Given the description of an element on the screen output the (x, y) to click on. 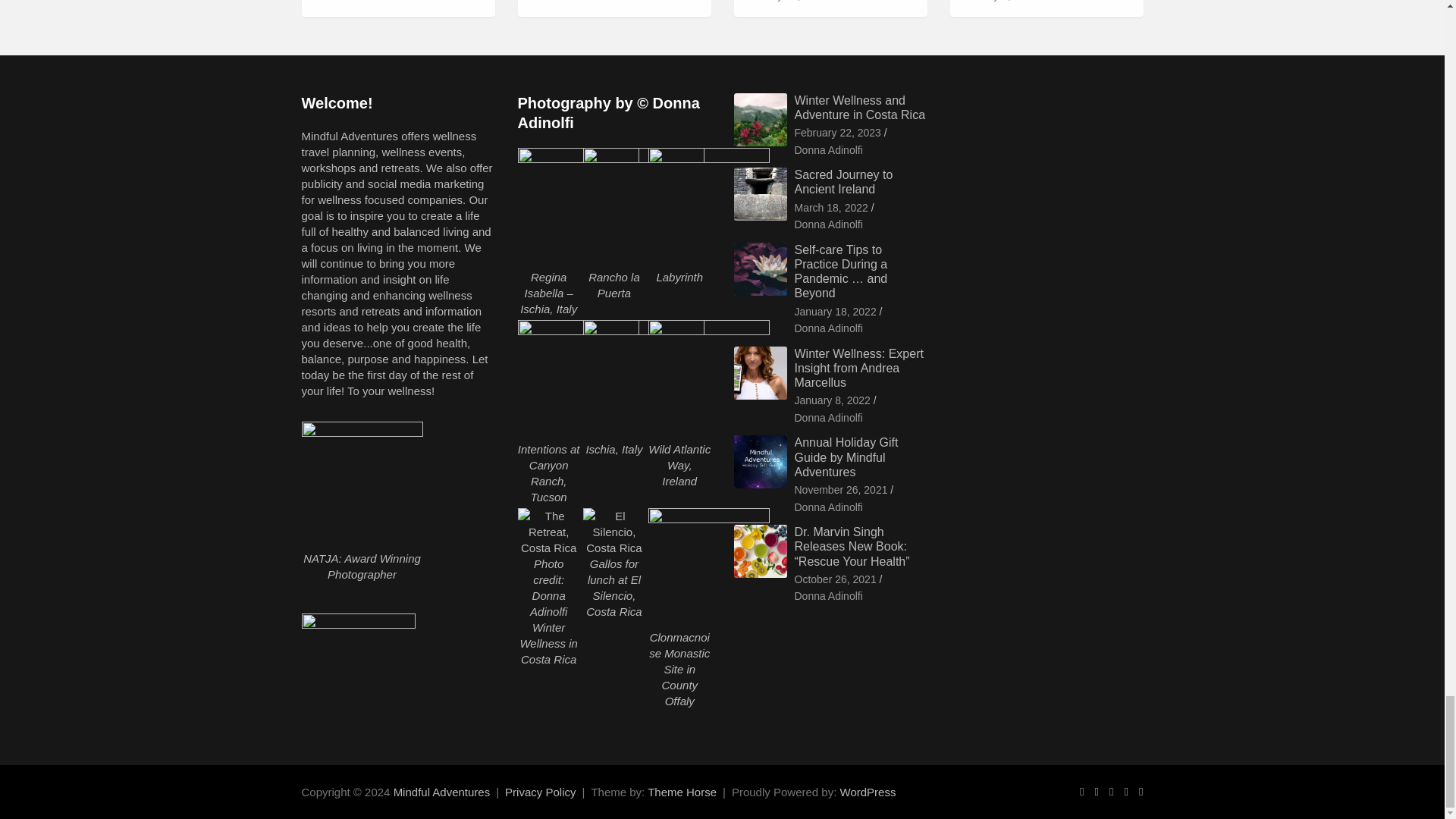
Winter Wellness: Expert Insight from Andrea Marcellus (998, 2)
Winter Wellness: Expert Insight from Andrea Marcellus (832, 400)
Annual Holiday Gift Guide by Mindful Adventures (841, 490)
Sacred Journey to Ancient Ireland (830, 208)
Winter Wellness and Adventure in Costa Rica (837, 133)
Theme Horse (681, 791)
Mindful Adventures (441, 791)
WordPress (868, 791)
